Given the description of an element on the screen output the (x, y) to click on. 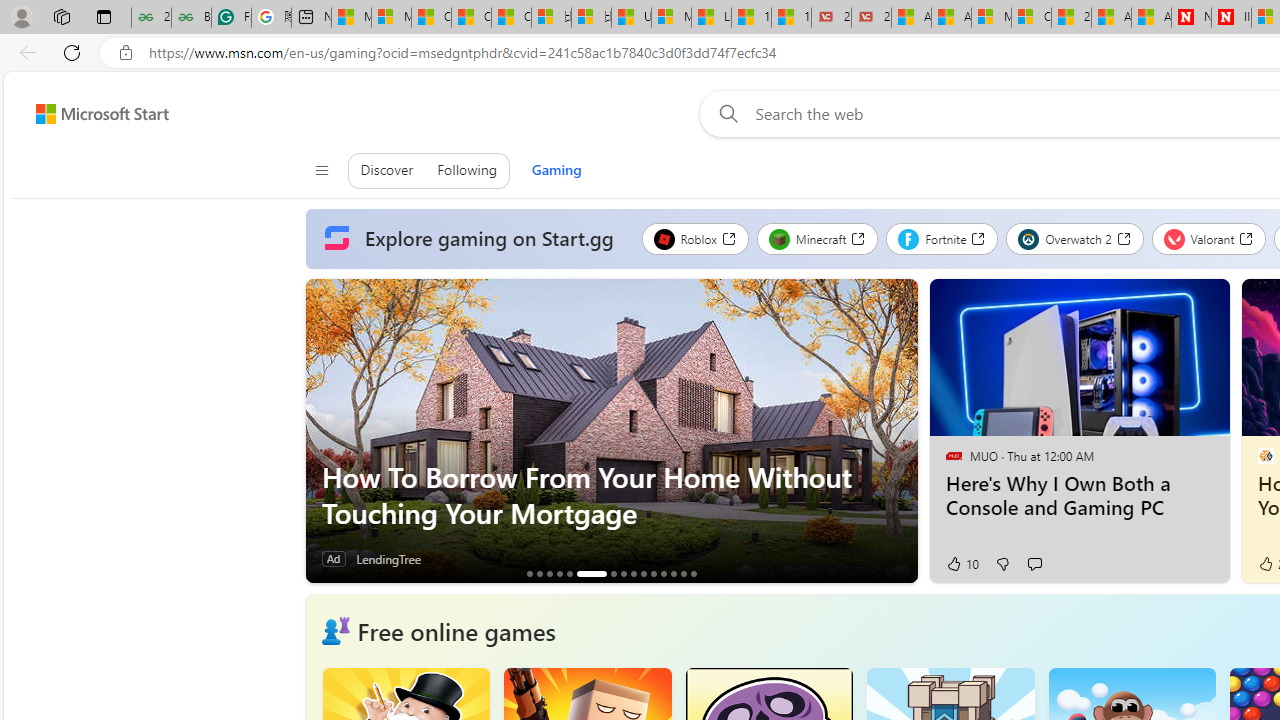
Fortnite (942, 238)
AutomationID: tab_nativead-infopane-3 (549, 573)
HowToGeek (1264, 455)
AutomationID: tab_nativead-infopane-11 (653, 573)
Get $450 Savings on Dell G16 Gaming Laptop (693, 573)
